Given the description of an element on the screen output the (x, y) to click on. 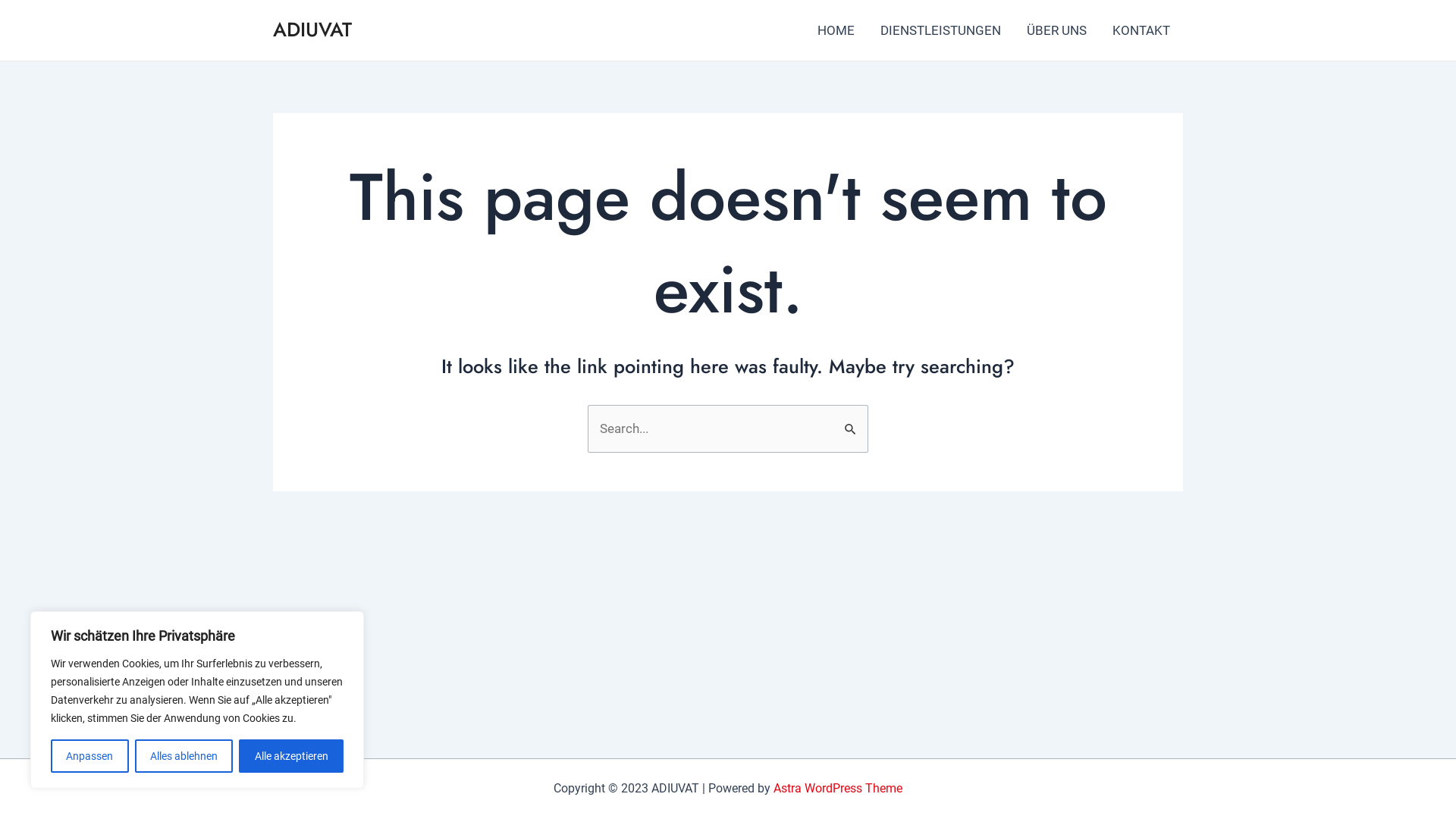
Alle akzeptieren Element type: text (290, 755)
KONTAKT Element type: text (1141, 30)
Astra WordPress Theme Element type: text (837, 788)
Search Element type: text (851, 420)
Anpassen Element type: text (89, 755)
ADIUVAT Element type: text (312, 29)
Alles ablehnen Element type: text (183, 755)
HOME Element type: text (835, 30)
DIENSTLEISTUNGEN Element type: text (940, 30)
